Given the description of an element on the screen output the (x, y) to click on. 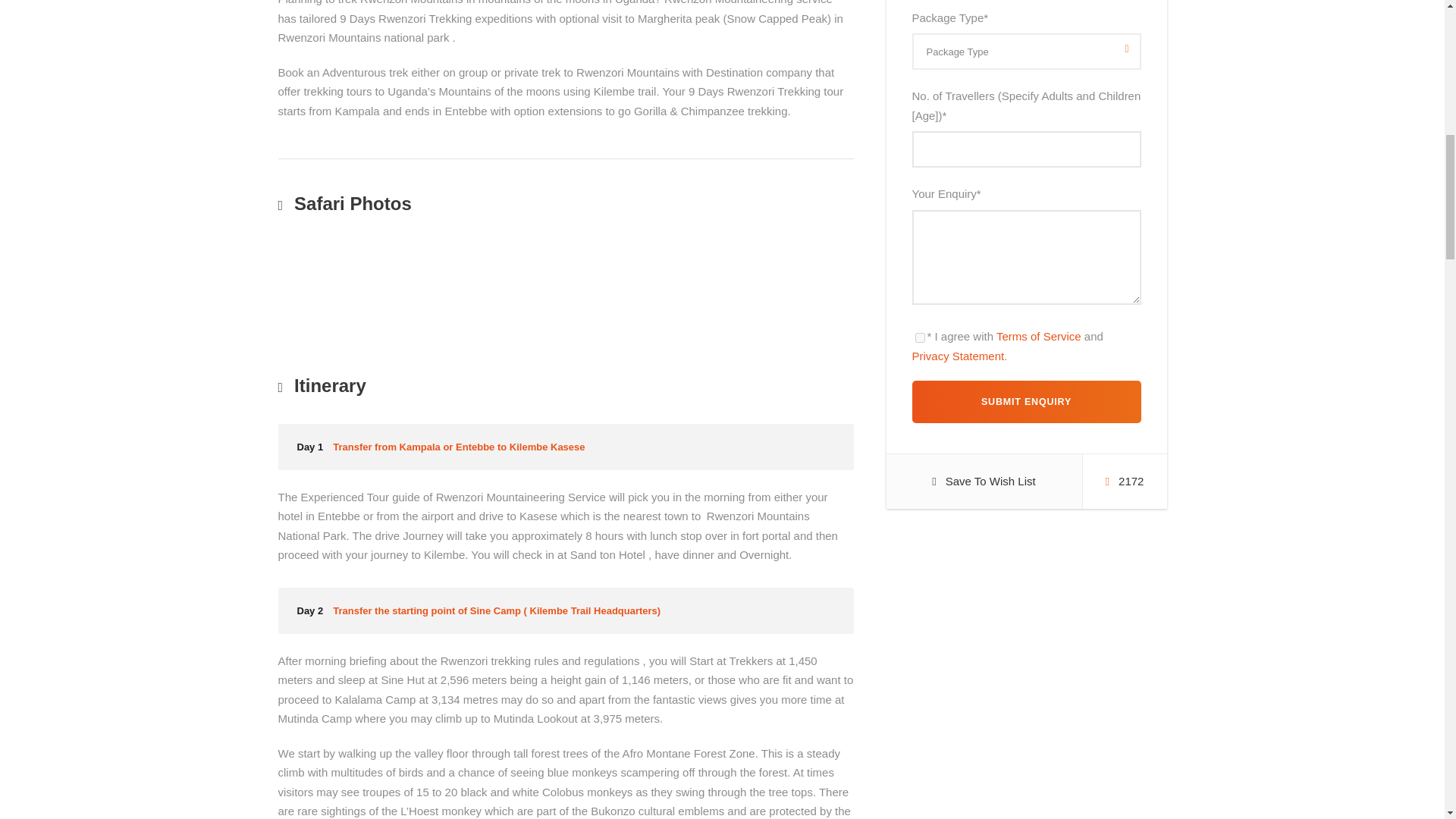
Submit Enquiry (1025, 401)
on (919, 337)
